Given the description of an element on the screen output the (x, y) to click on. 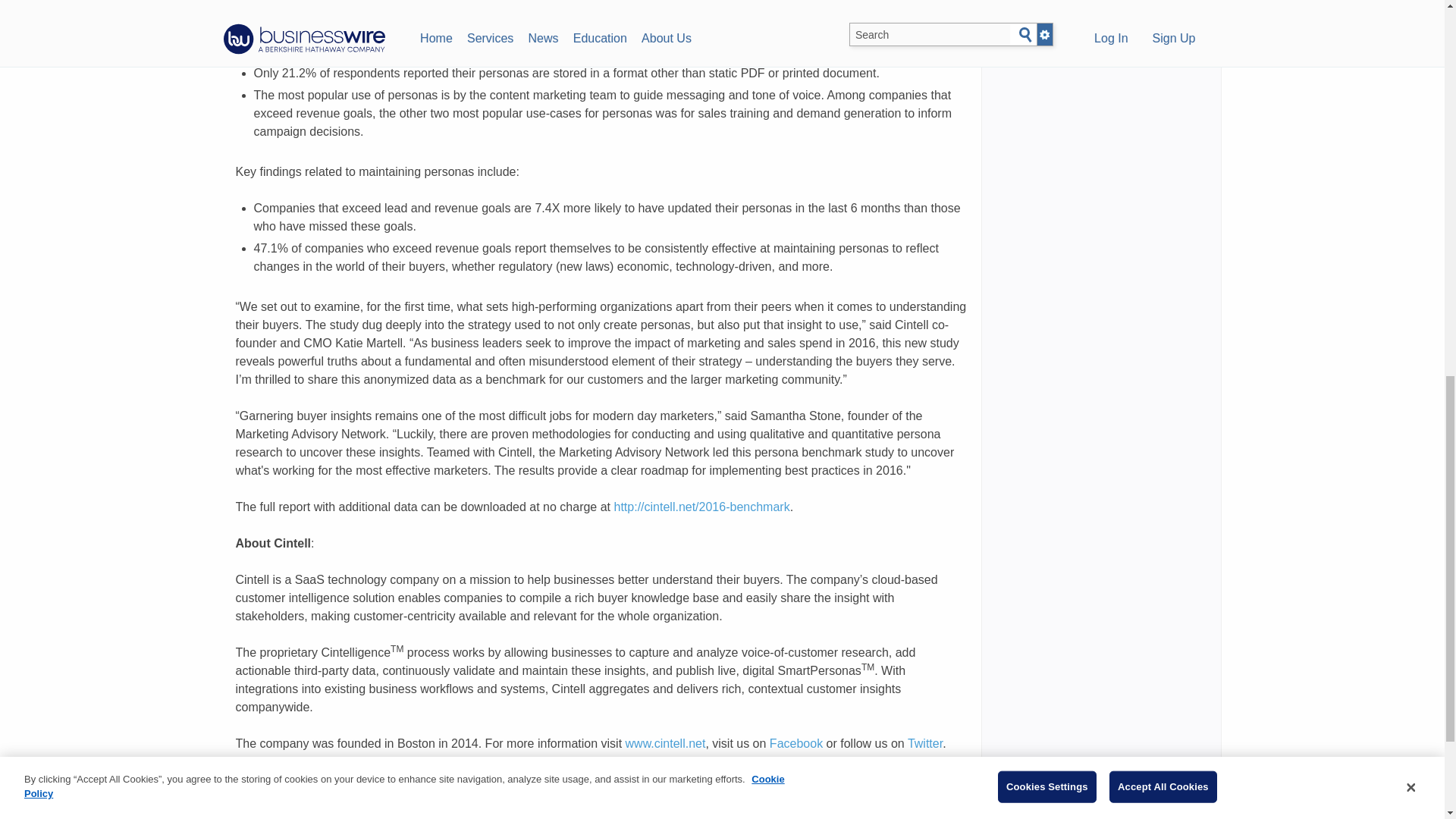
www.cintell.net (666, 743)
Facebook (796, 743)
Twitter (924, 743)
